Given the description of an element on the screen output the (x, y) to click on. 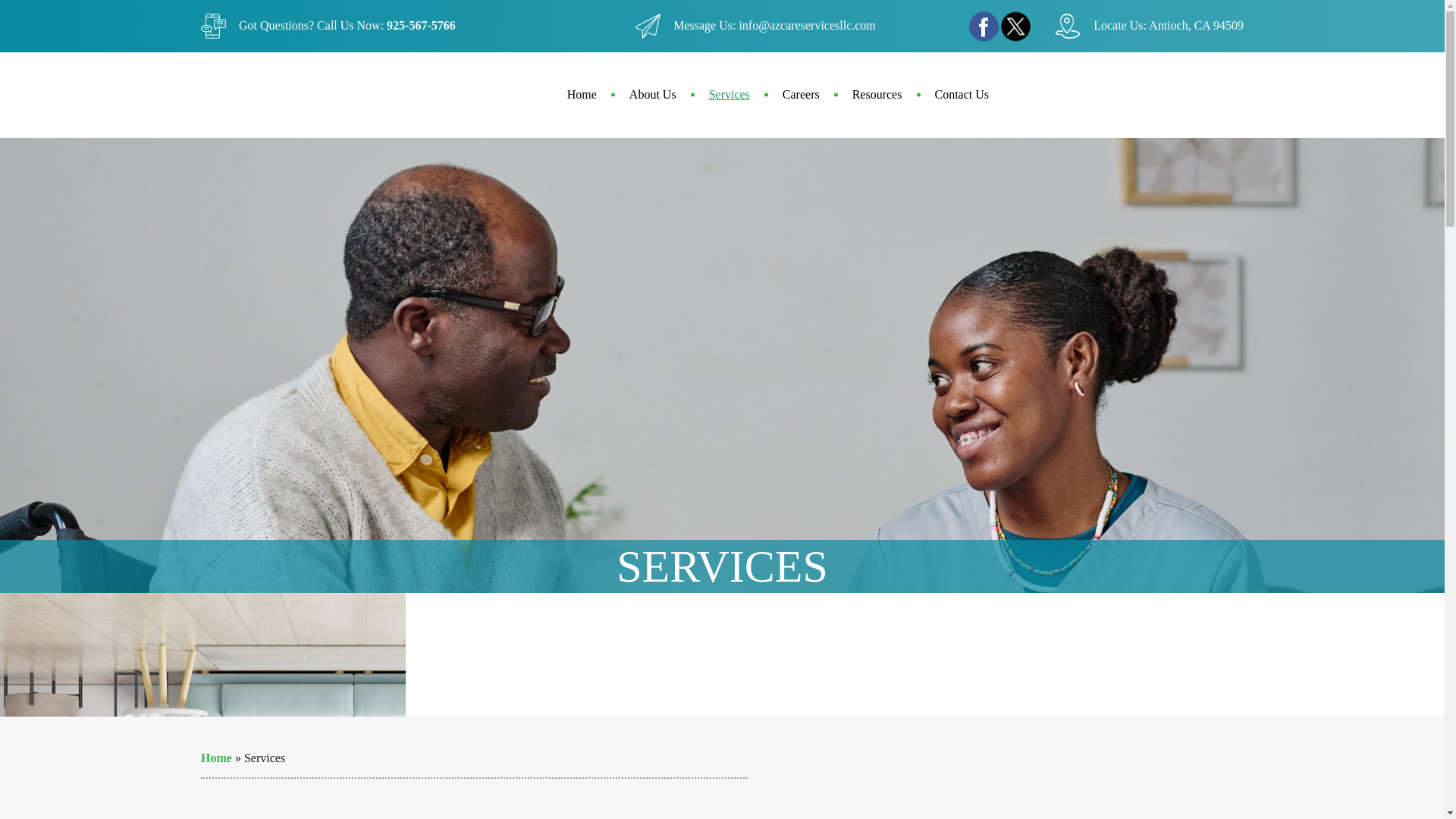
Resources (877, 94)
About Us (652, 94)
Home (581, 94)
Careers (800, 94)
Home (215, 757)
Services (729, 94)
Contact Us (954, 94)
